Given the description of an element on the screen output the (x, y) to click on. 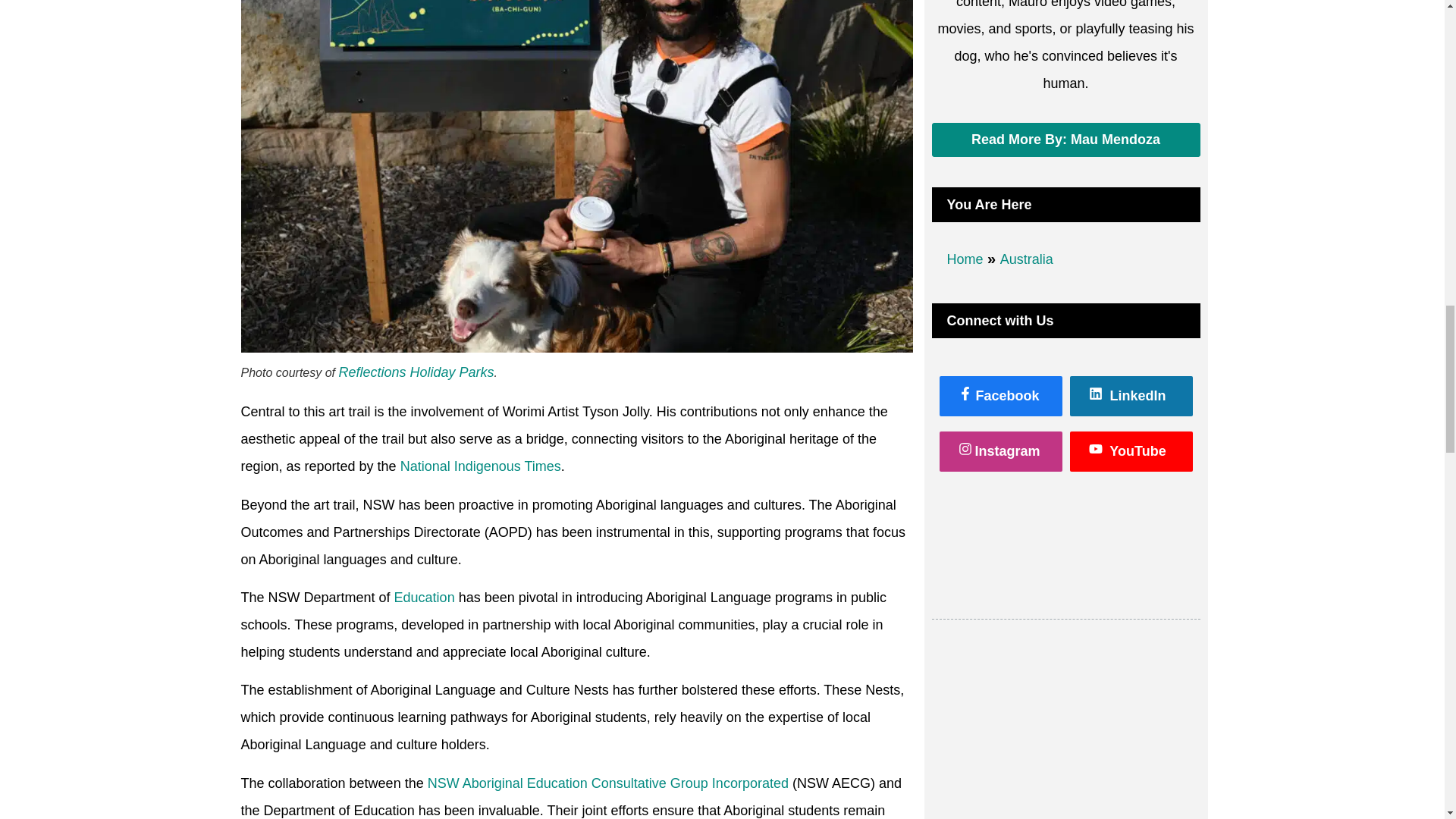
Education (424, 597)
